Given the description of an element on the screen output the (x, y) to click on. 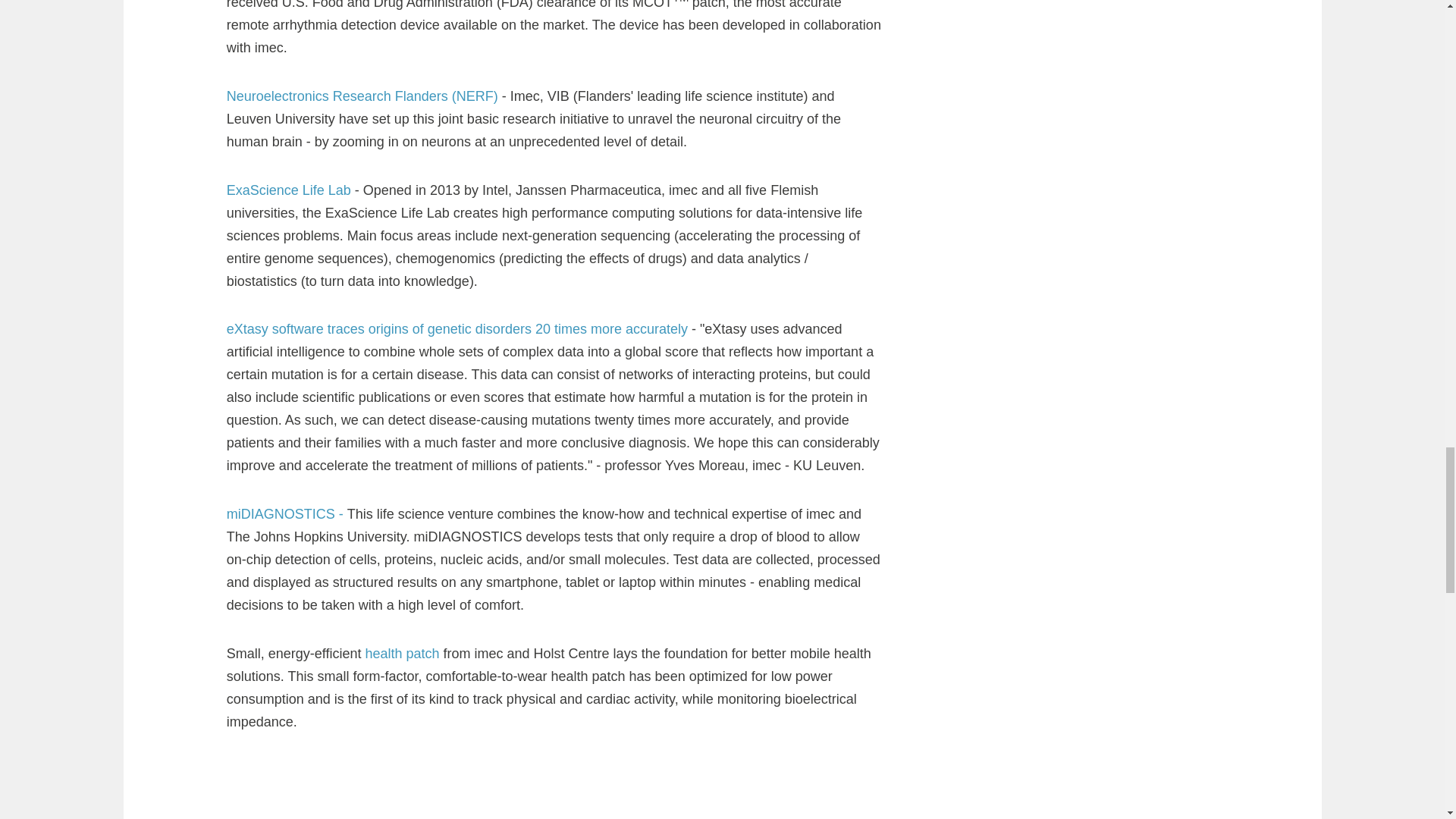
health patch  (403, 349)
Discover more (310, 769)
X (1179, 551)
LinkedIn (1208, 551)
CONTACT US (1058, 647)
Facebook (1149, 551)
miDIAGNOSTICS -  (287, 209)
